Given the description of an element on the screen output the (x, y) to click on. 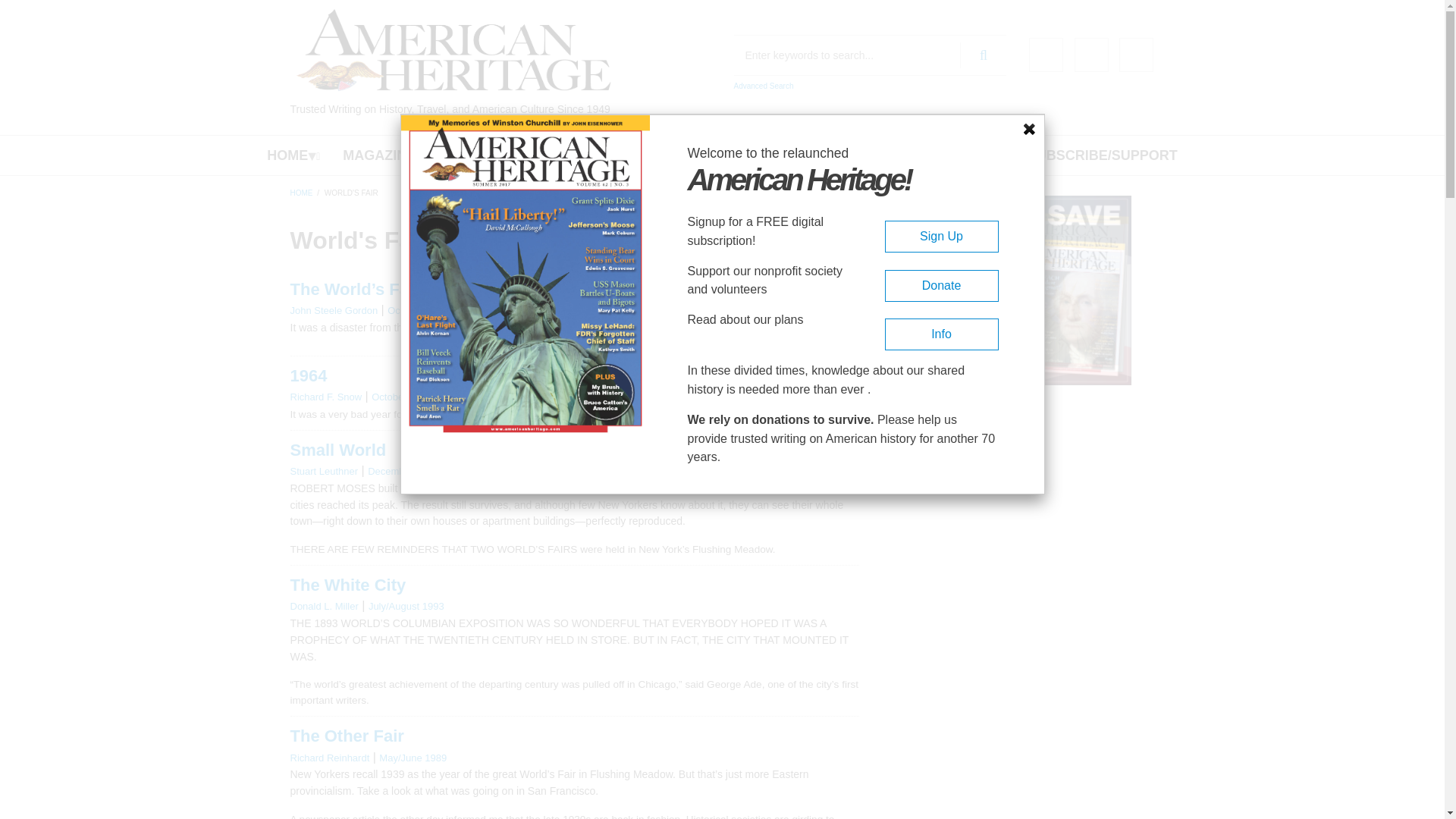
Enter the terms you wish to search for. (870, 55)
Advanced Search (763, 85)
Search (982, 54)
Twitter (1091, 54)
Home (453, 50)
Search (982, 54)
Facebook (1045, 54)
Search (982, 54)
RSS (1136, 54)
